Given the description of an element on the screen output the (x, y) to click on. 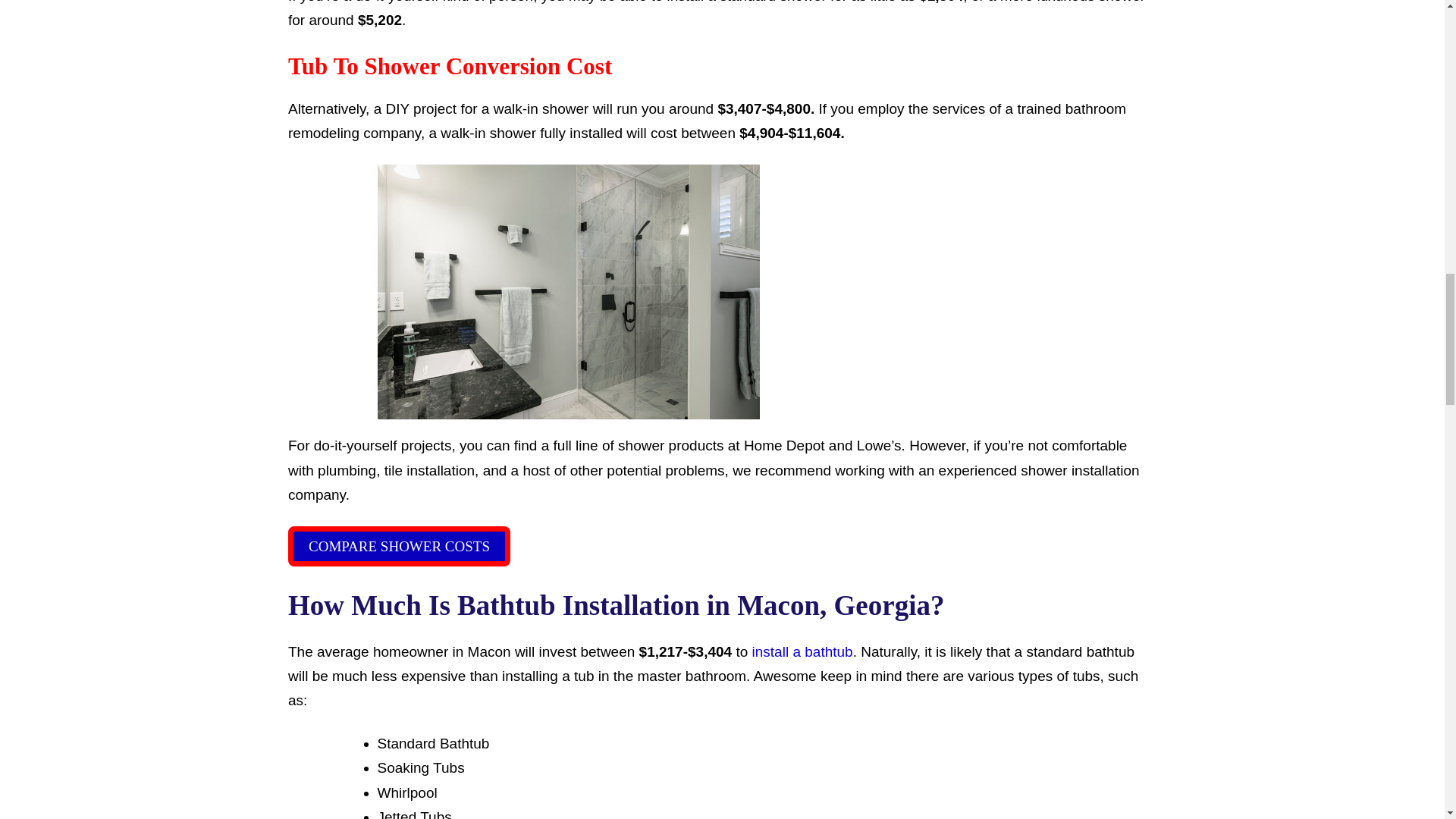
Luxury Shower (568, 291)
